Given the description of an element on the screen output the (x, y) to click on. 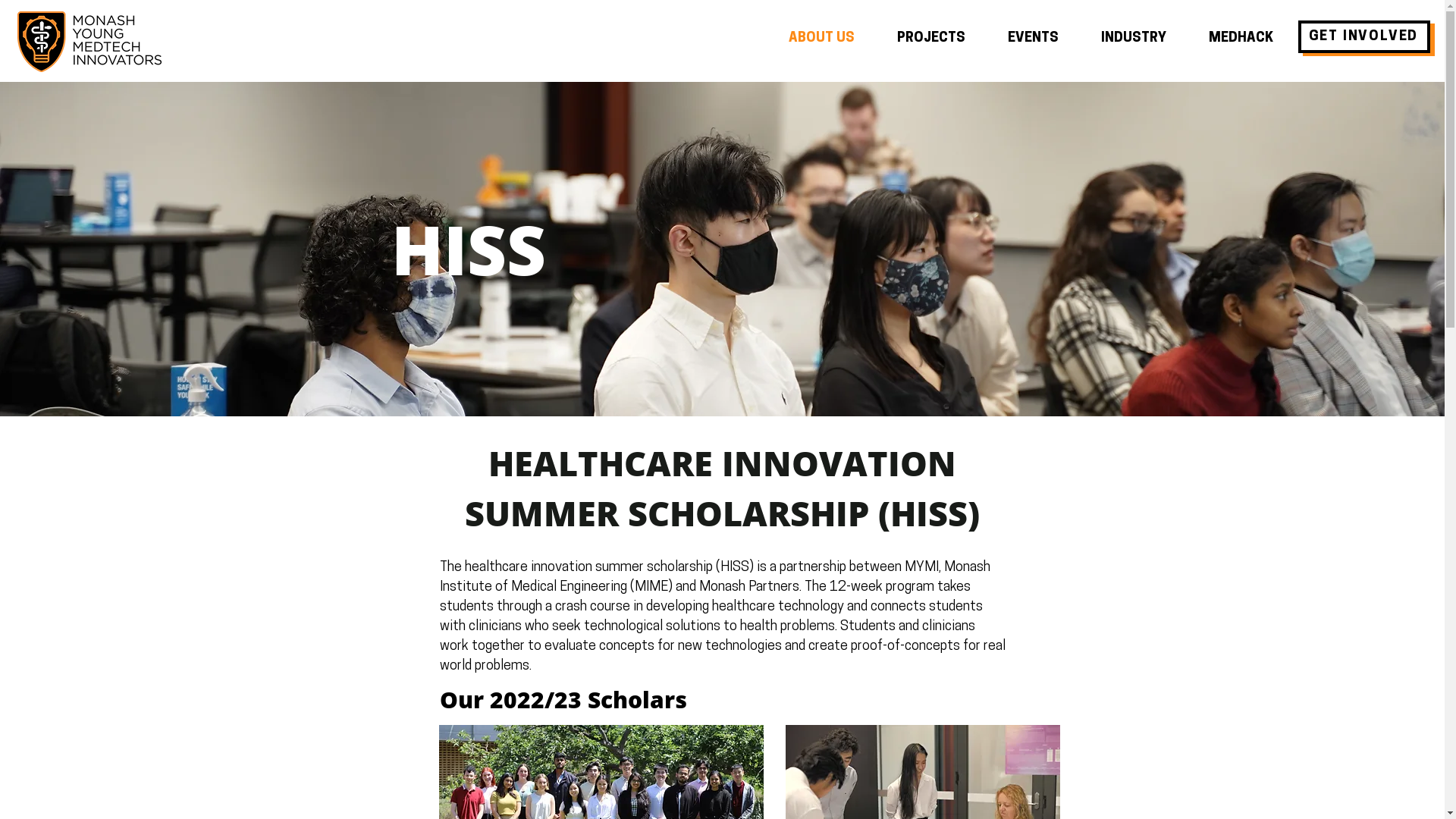
GET INVOLVED Element type: text (1360, 38)
EVENTS Element type: text (1032, 38)
PROJECTS Element type: text (930, 38)
INDUSTRY Element type: text (1133, 38)
GET INVOLVED Element type: text (1364, 36)
ABOUT US Element type: text (821, 38)
MEDHACK Element type: text (1240, 38)
